Given the description of an element on the screen output the (x, y) to click on. 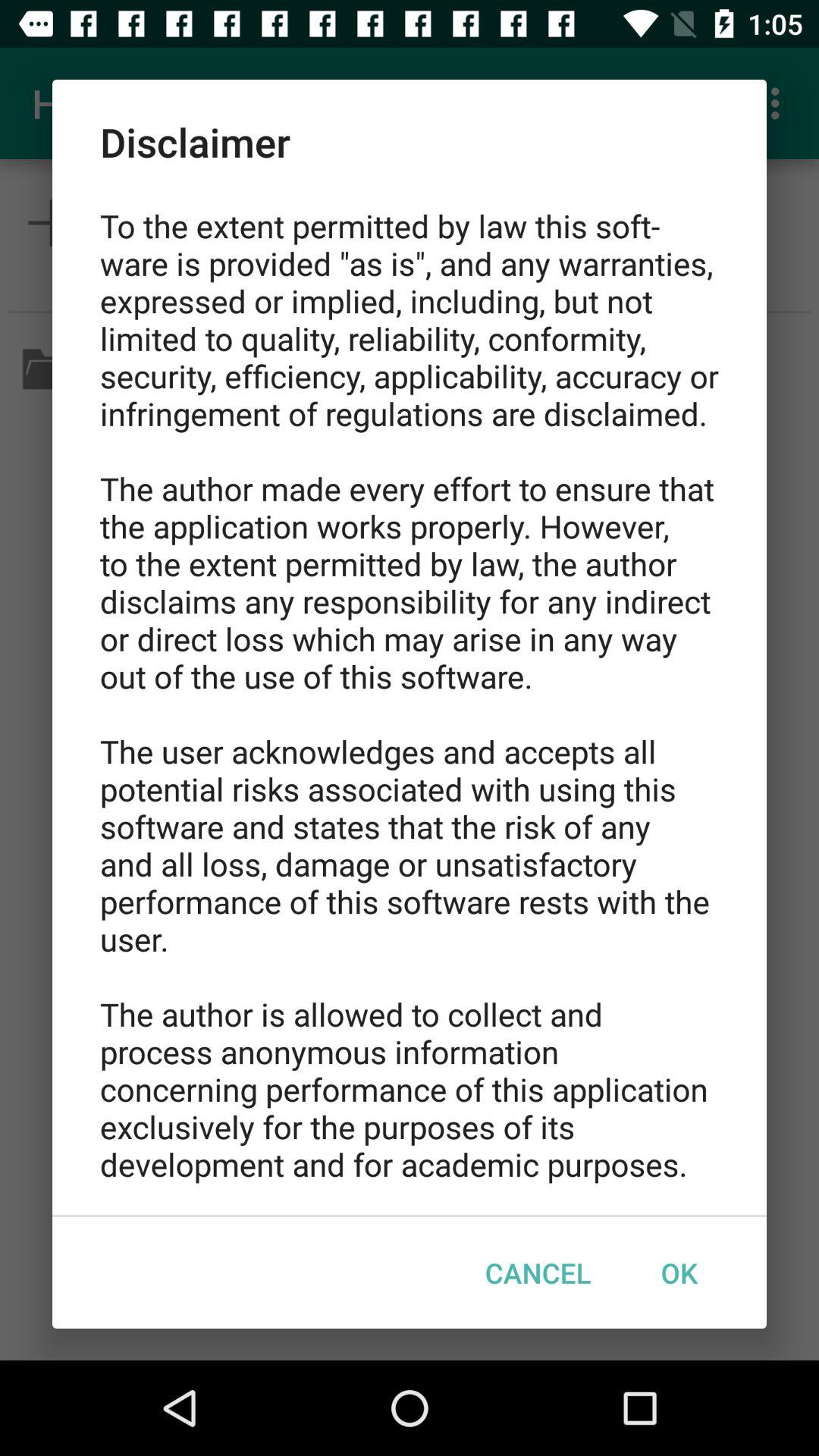
turn on item at the bottom (538, 1272)
